Given the description of an element on the screen output the (x, y) to click on. 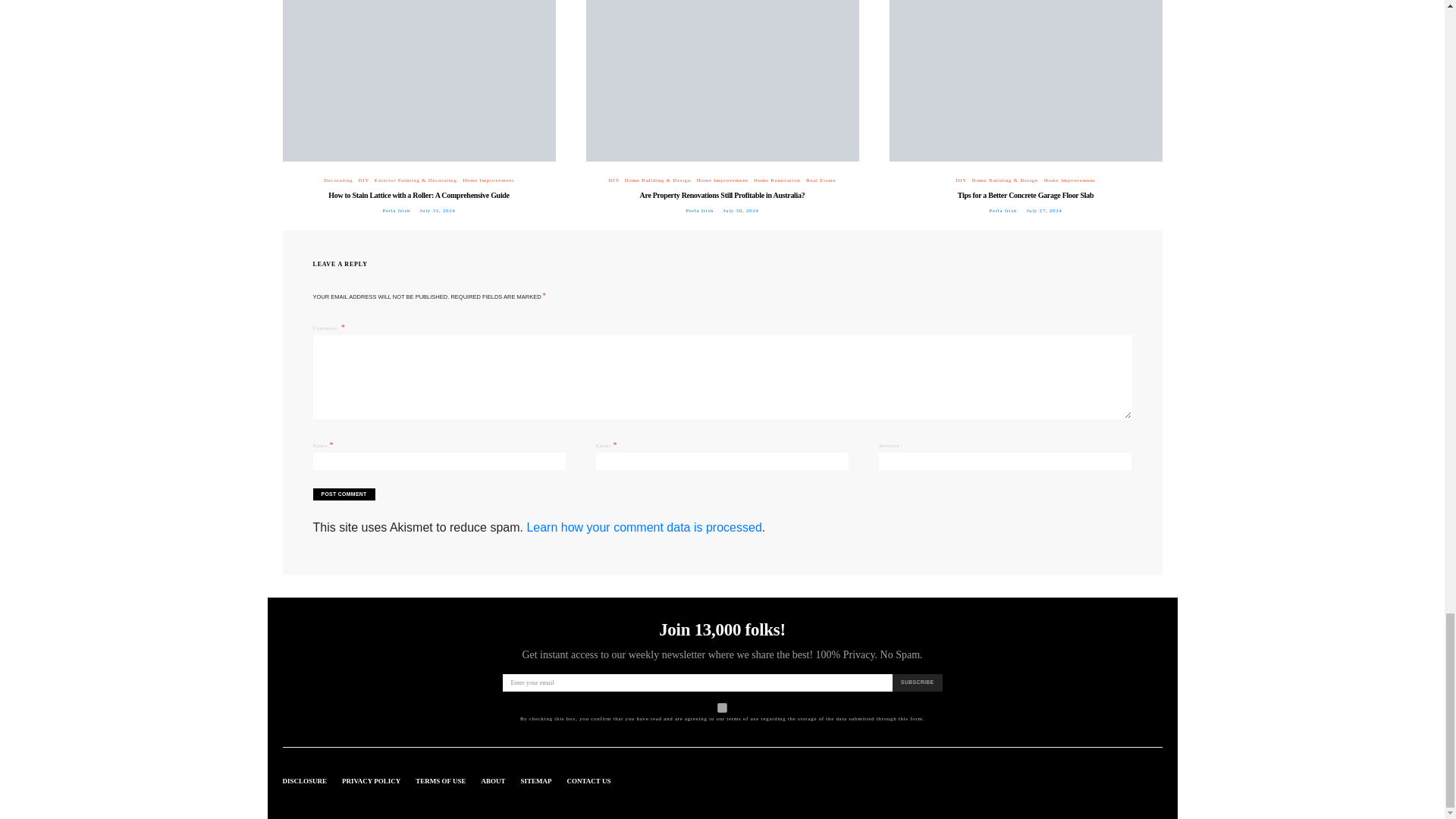
on (722, 707)
Post Comment (343, 494)
View all posts by Perla Irish (395, 210)
View all posts by Perla Irish (1002, 210)
View all posts by Perla Irish (699, 210)
